Given the description of an element on the screen output the (x, y) to click on. 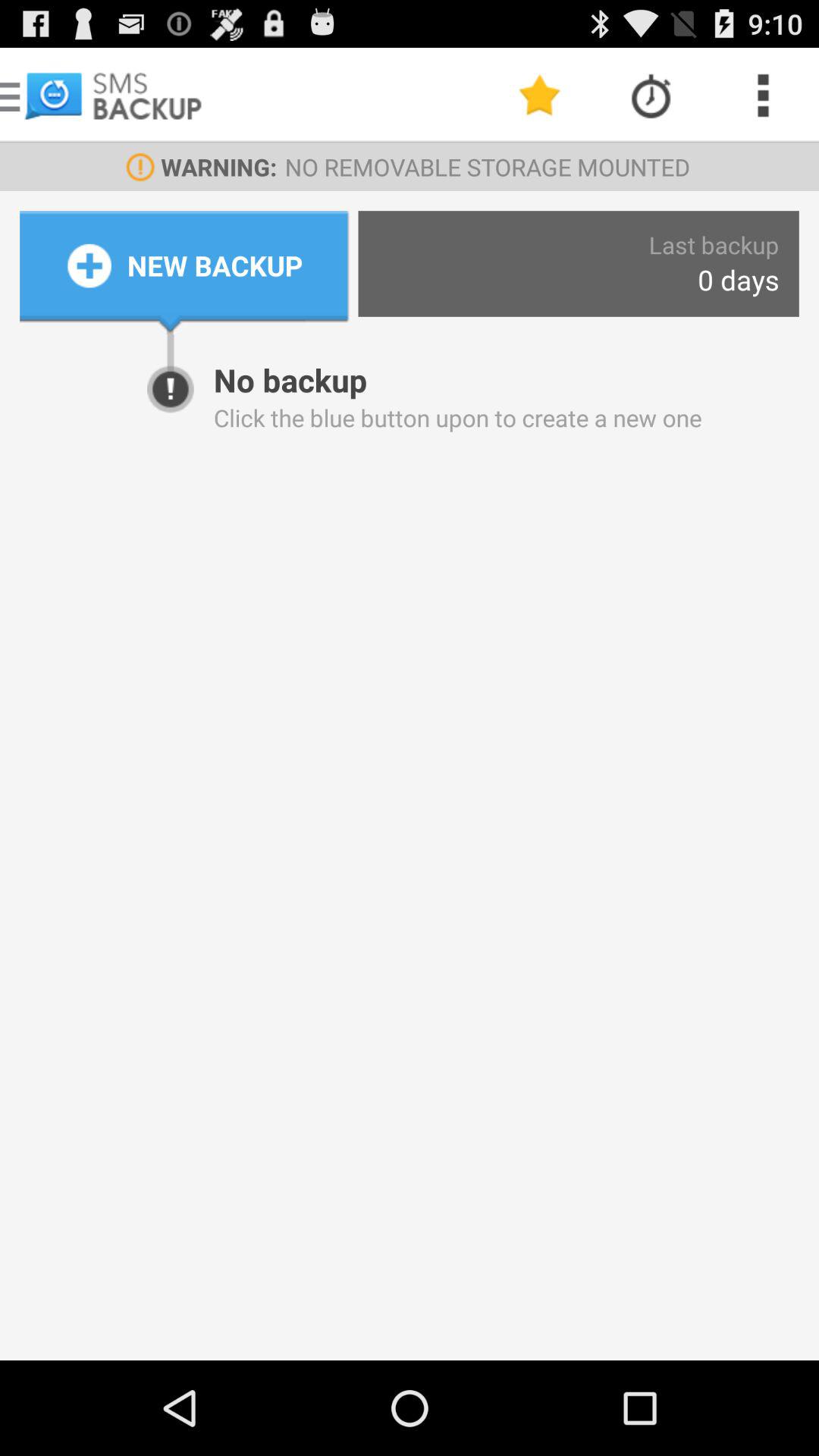
open the icon above the click the blue icon (738, 279)
